Given the description of an element on the screen output the (x, y) to click on. 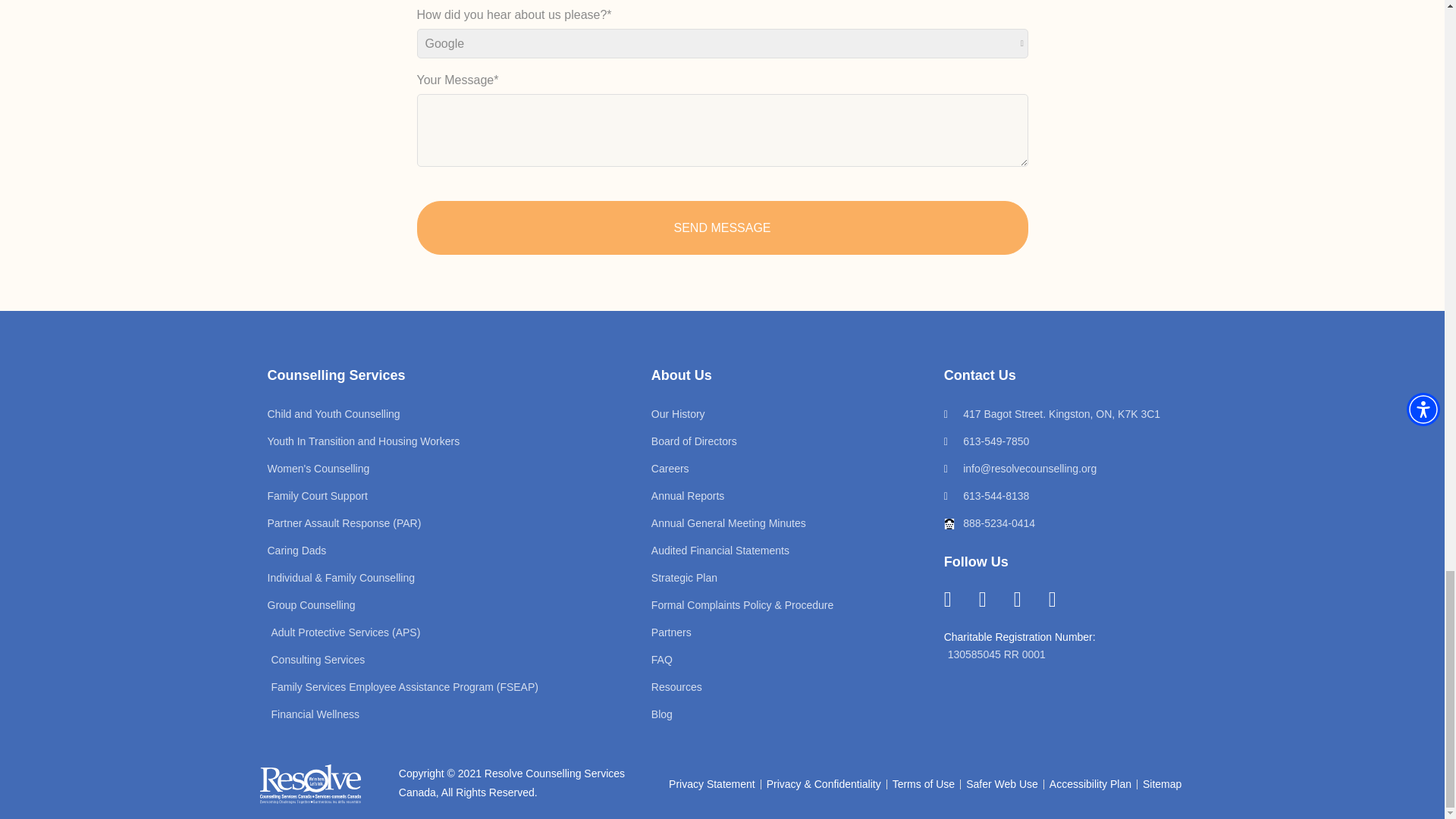
SEND MESSAGE (721, 227)
